Given the description of an element on the screen output the (x, y) to click on. 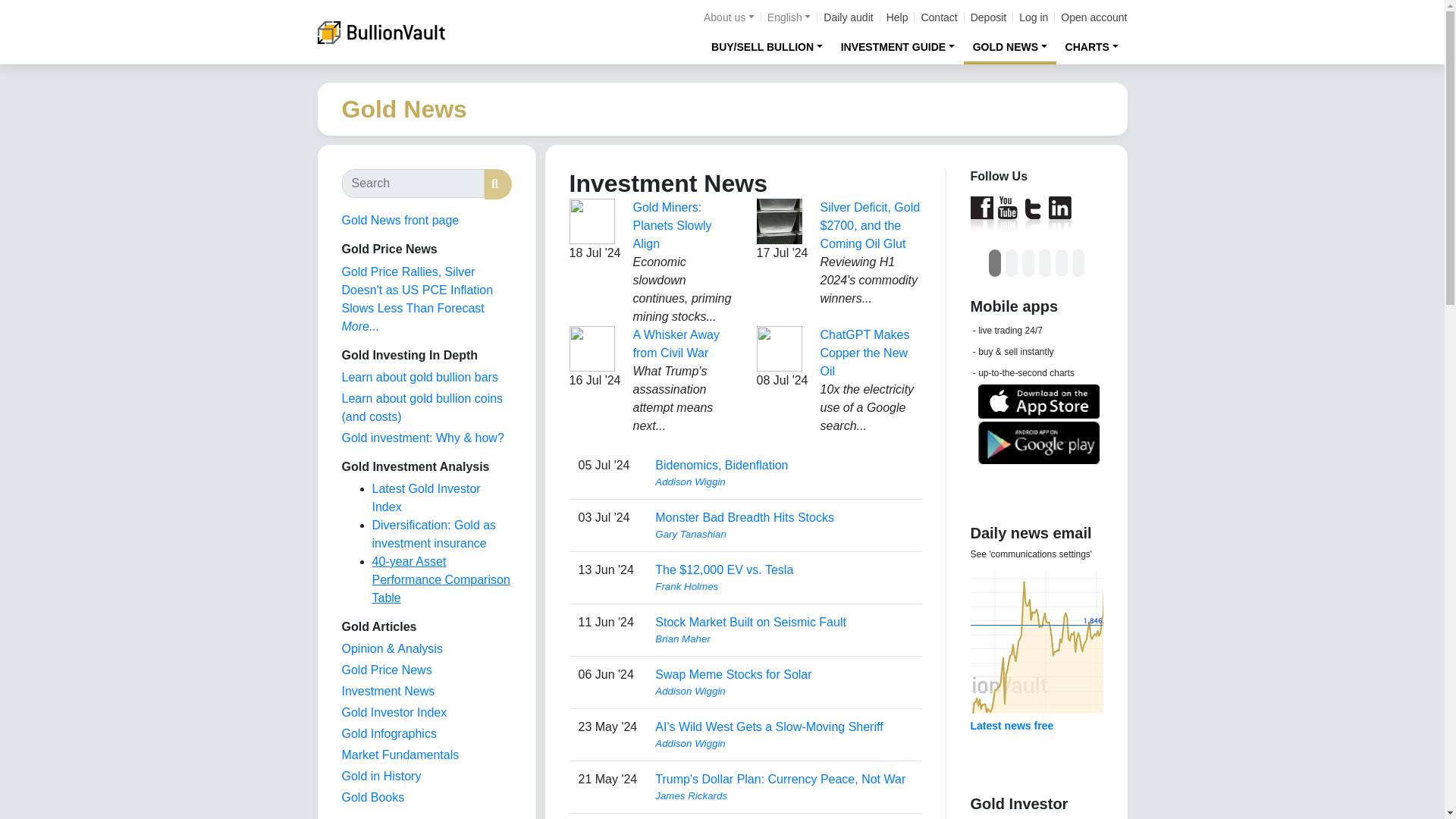
Market Fundamentals (399, 754)
View user profile. (783, 743)
Gold Infographics (387, 733)
Gold Price News (385, 669)
Books about Gold Reviewed (372, 797)
INVESTMENT GUIDE (897, 46)
English (788, 17)
View user profile. (783, 586)
Daily audit (848, 17)
The View from the Vault (391, 648)
Gold Investor Index (393, 712)
View user profile. (783, 691)
View user profile. (783, 534)
About us (728, 17)
Contact (938, 17)
